Given the description of an element on the screen output the (x, y) to click on. 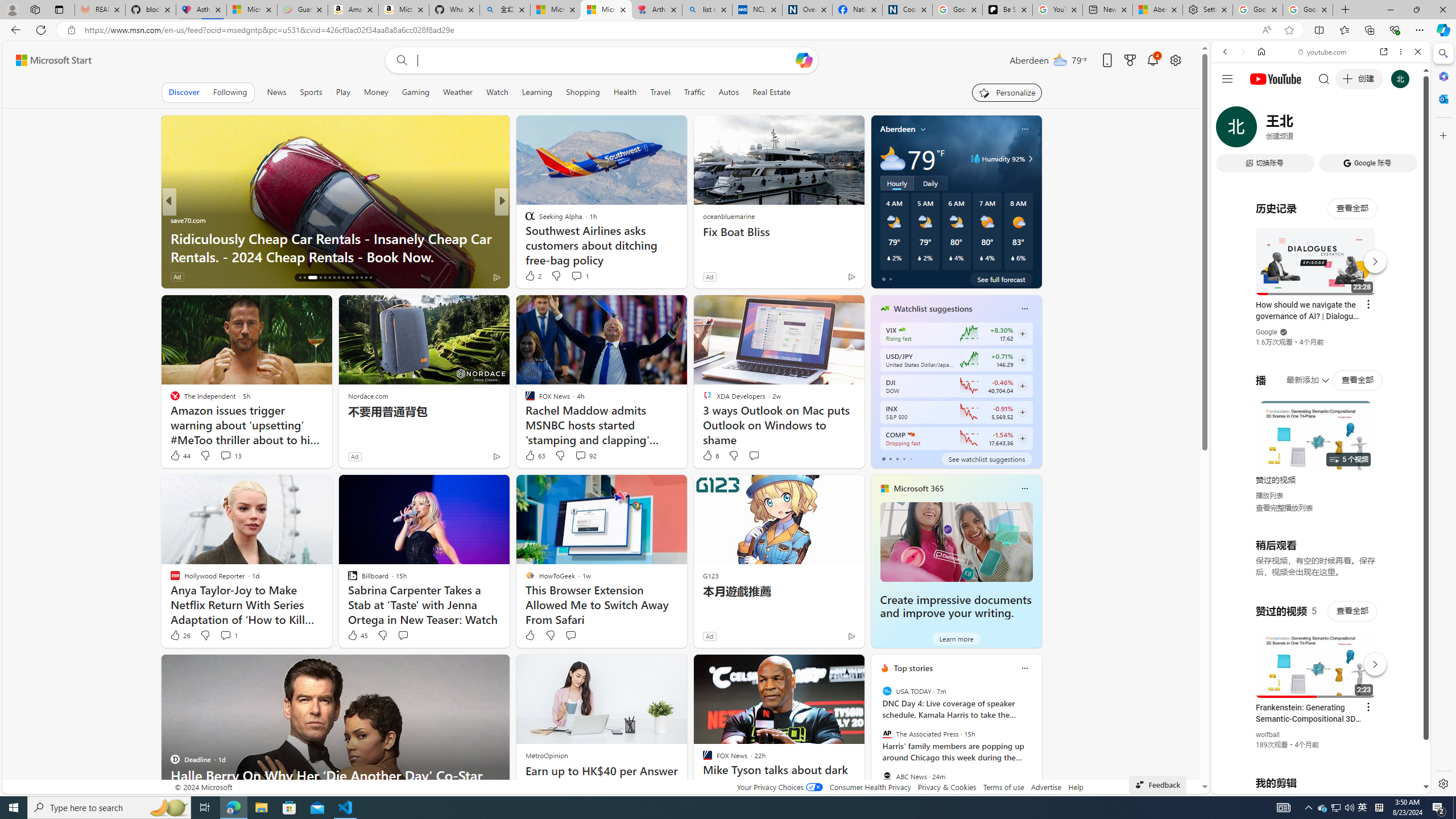
AutomationID: tab-24 (343, 277)
View comments 9 Comment (580, 276)
Class: follow-button  m (1021, 438)
View comments 25 Comment (576, 276)
Business Insider (524, 219)
22 Like (530, 276)
Learning (536, 92)
Music (1320, 309)
Inverse (524, 219)
